Given the description of an element on the screen output the (x, y) to click on. 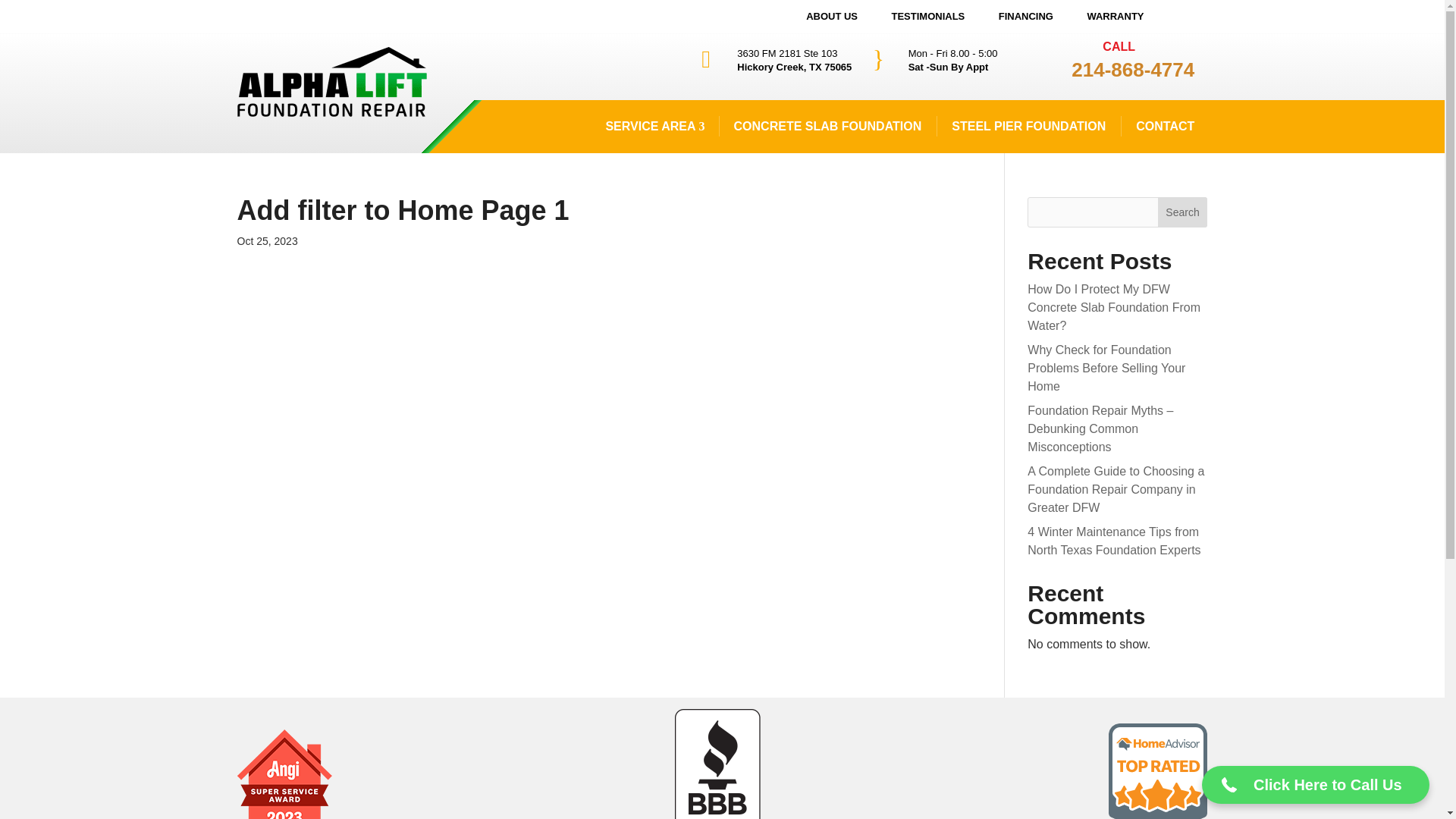
CONCRETE SLAB FOUNDATION (828, 126)
FINANCING (1026, 16)
toprated (1157, 771)
ABOUT US (831, 16)
TESTIMONIALS (927, 16)
214-868-4774 (1132, 69)
WARRANTY (1114, 16)
CONTACT (1165, 126)
AlphaLift-Repair-250Logo-img (330, 81)
STEEL PIER FOUNDATION (1028, 126)
SERVICE AREA (653, 126)
